Given the description of an element on the screen output the (x, y) to click on. 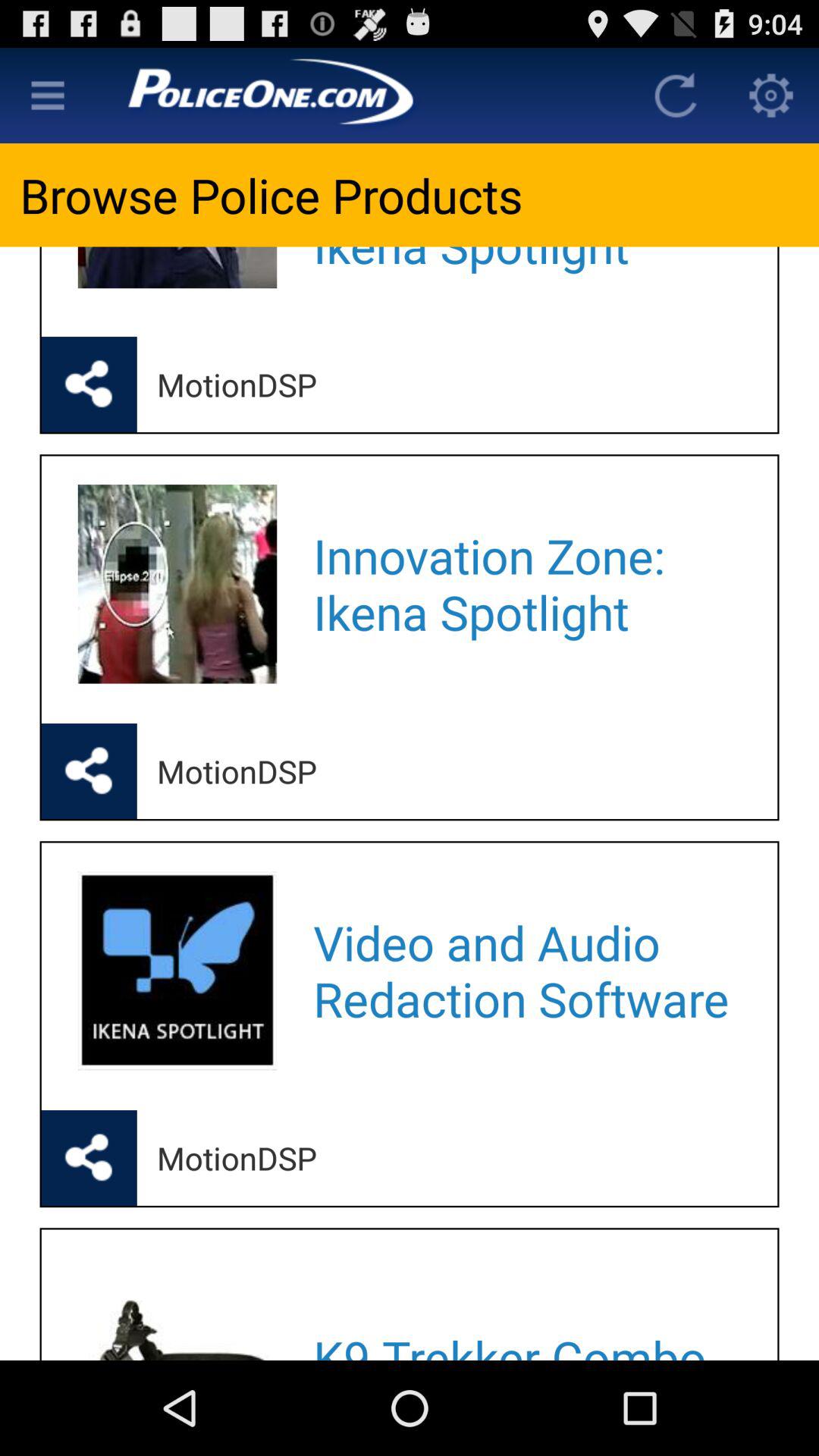
refersh the page (675, 95)
